Given the description of an element on the screen output the (x, y) to click on. 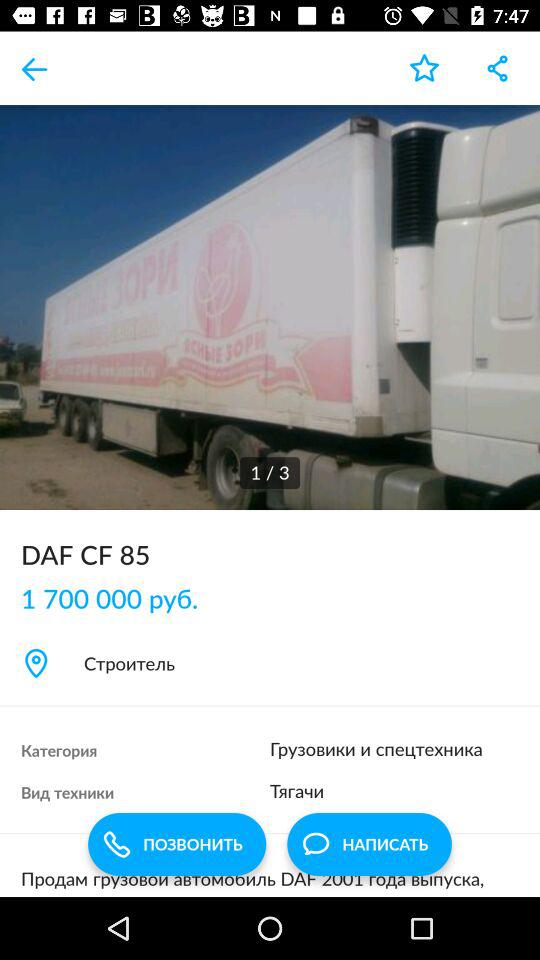
tap 1 700 000 (120, 598)
